Given the description of an element on the screen output the (x, y) to click on. 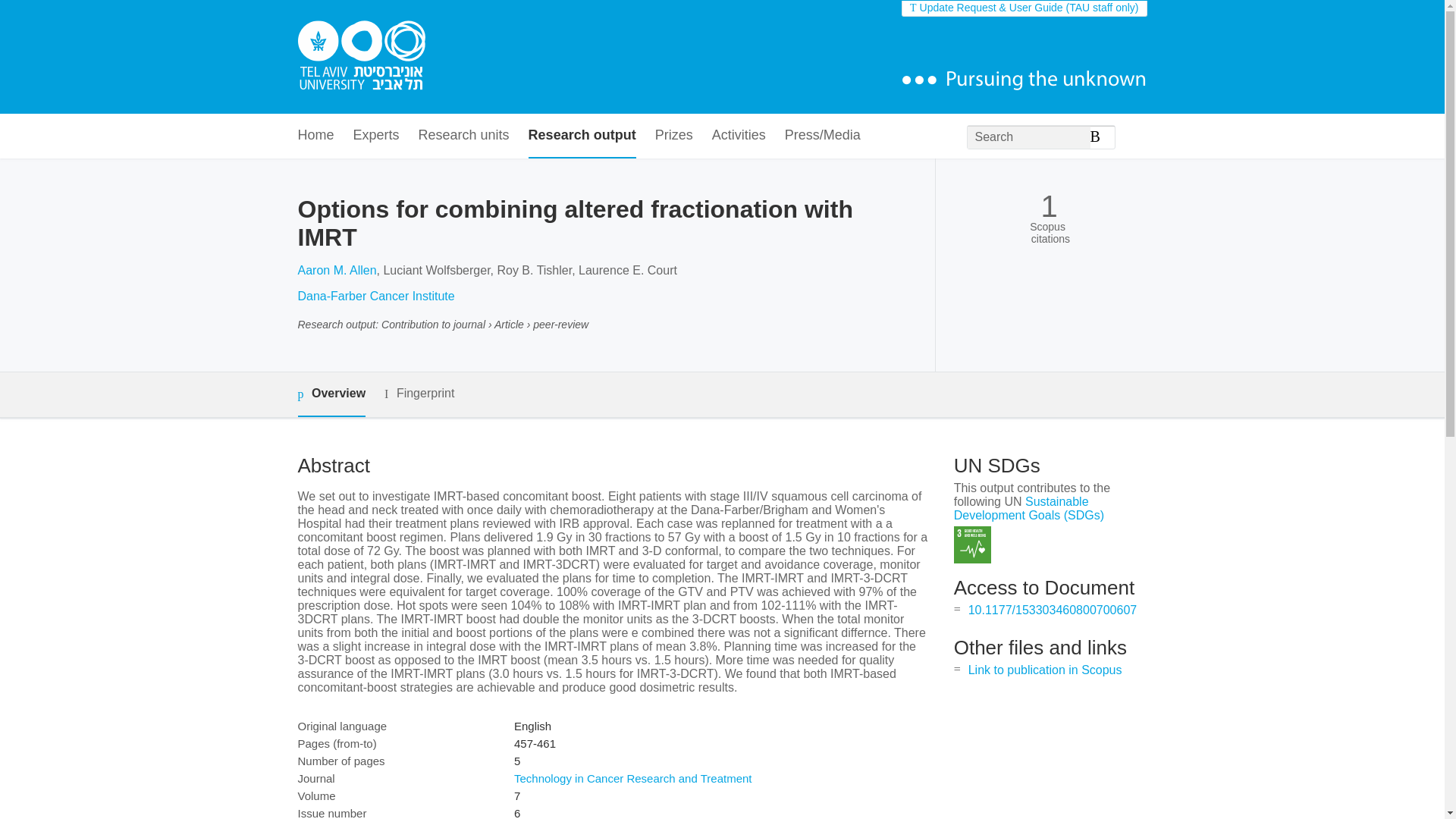
Activities (738, 135)
Link to publication in Scopus (1045, 669)
Technology in Cancer Research and Treatment (632, 778)
SDG 3 - Good Health and Well-being (972, 544)
Research units (464, 135)
Fingerprint (419, 393)
Aaron M. Allen (336, 269)
Experts (375, 135)
Tel Aviv University Home (361, 56)
Research output (582, 135)
Overview (331, 394)
Dana-Farber Cancer Institute (375, 295)
